Given the description of an element on the screen output the (x, y) to click on. 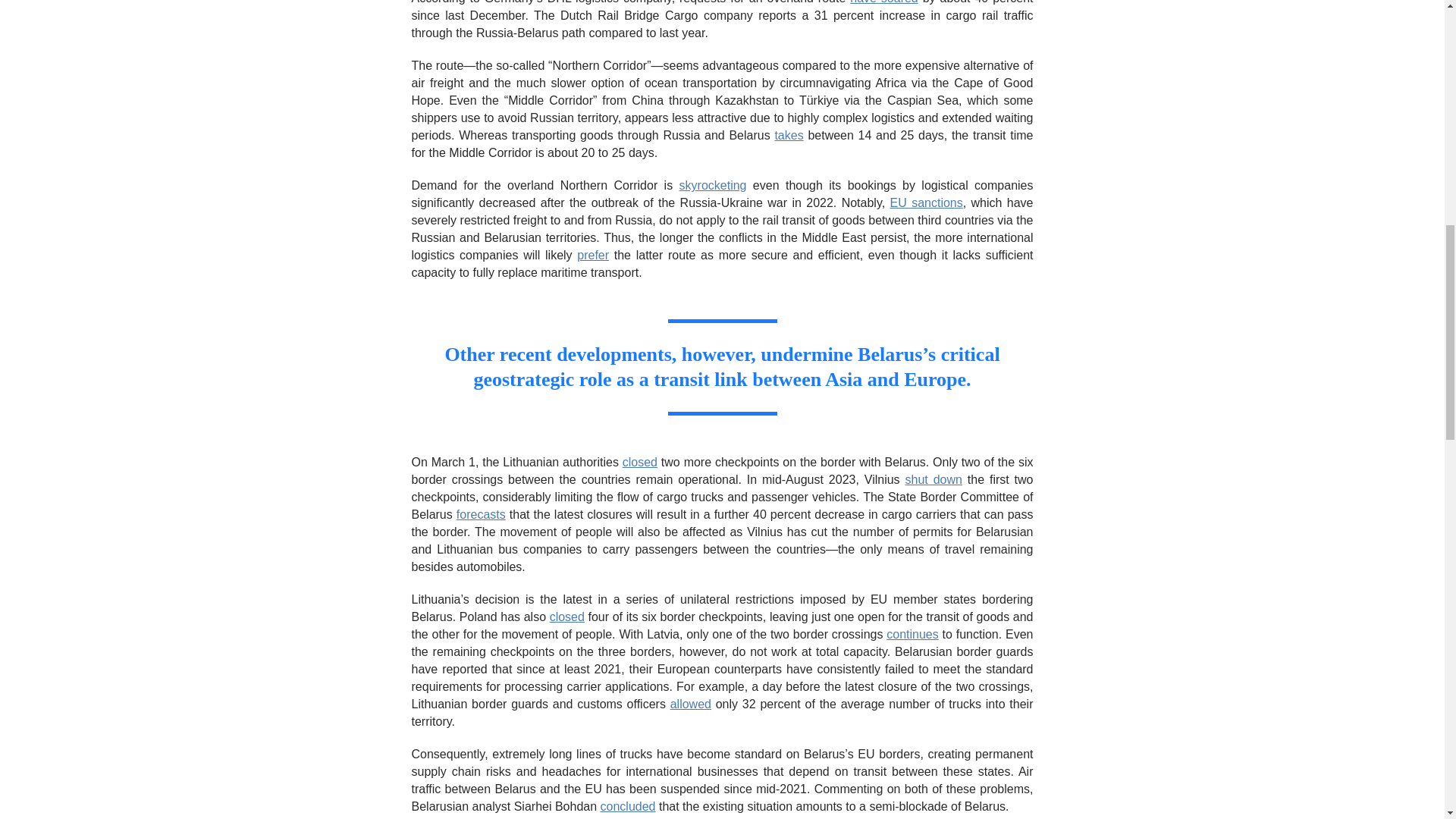
takes (788, 134)
shut down (933, 479)
skyrocketing (712, 185)
forecasts (481, 513)
allowed (690, 703)
prefer (592, 254)
have soared (884, 2)
concluded (627, 806)
continues (912, 634)
EU sanctions (925, 202)
